Given the description of an element on the screen output the (x, y) to click on. 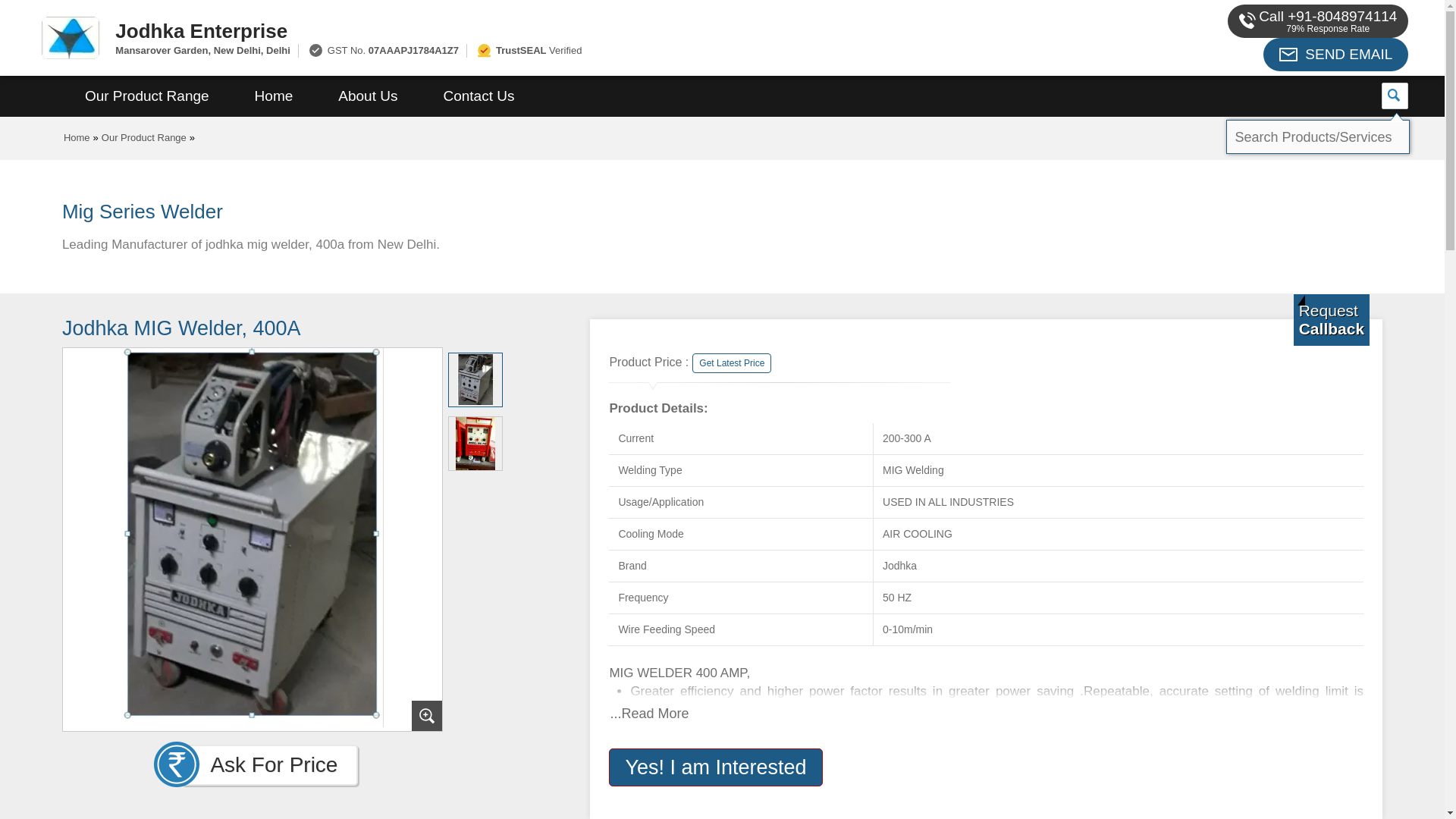
Jodhka Enterprise (552, 31)
Home (273, 96)
Home (77, 137)
Our Product Range (143, 137)
About Us (367, 96)
Our Product Range (146, 96)
Contact Us (478, 96)
Get a Call from us (1332, 319)
